Given the description of an element on the screen output the (x, y) to click on. 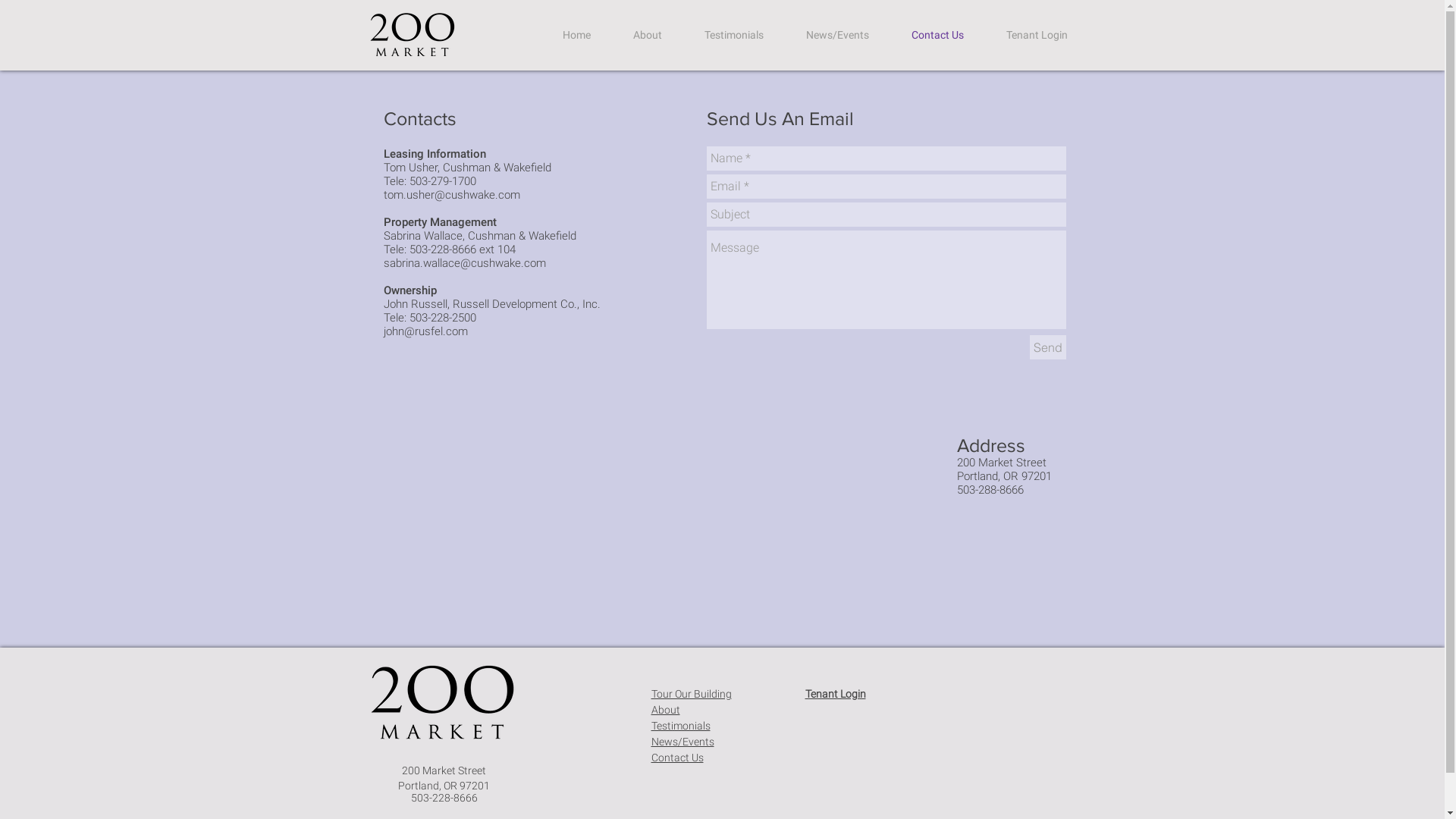
News/Events Element type: text (681, 741)
Testimonials Element type: text (733, 34)
sabrina.wallace@cushwake.com Element type: text (464, 262)
john@rusfel.com Element type: text (425, 331)
Testimonials Element type: text (679, 725)
Contact Us Element type: text (676, 757)
Contact Us Element type: text (937, 34)
About Element type: text (664, 709)
tom.usher@cushwake.com Element type: text (451, 194)
Tenant Login Element type: text (835, 693)
Google Maps Element type: hover (660, 507)
About Element type: text (646, 34)
Send Element type: text (1047, 347)
Home Element type: text (576, 34)
News/Events Element type: text (836, 34)
Tenant Login Element type: text (1036, 34)
